Given the description of an element on the screen output the (x, y) to click on. 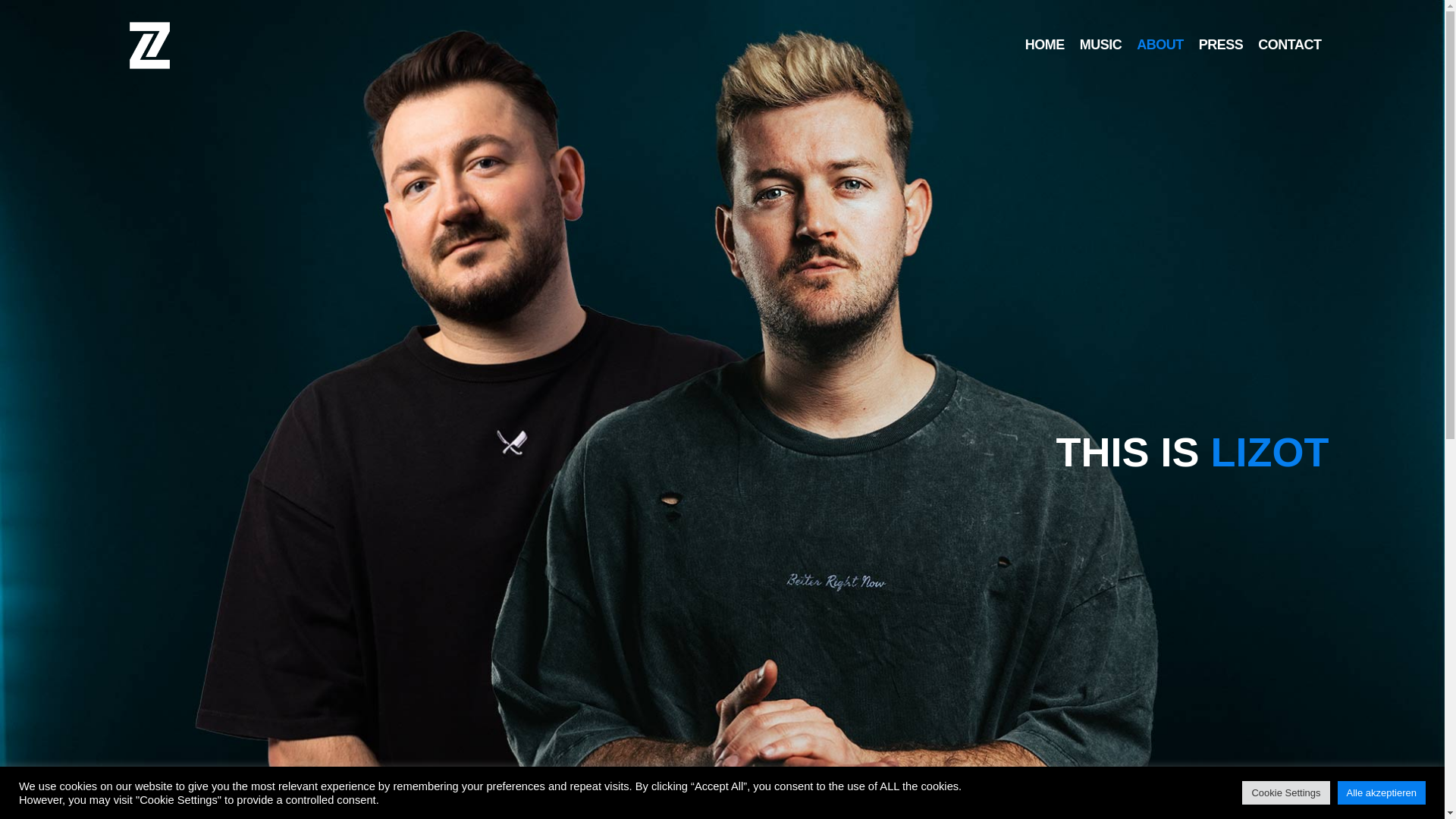
CONTACT (1288, 45)
ABOUT (1160, 45)
MUSIC (1100, 45)
Alle akzeptieren (1382, 792)
HOME (1044, 45)
Cookie Settings (1285, 792)
PRESS (1220, 45)
